Given the description of an element on the screen output the (x, y) to click on. 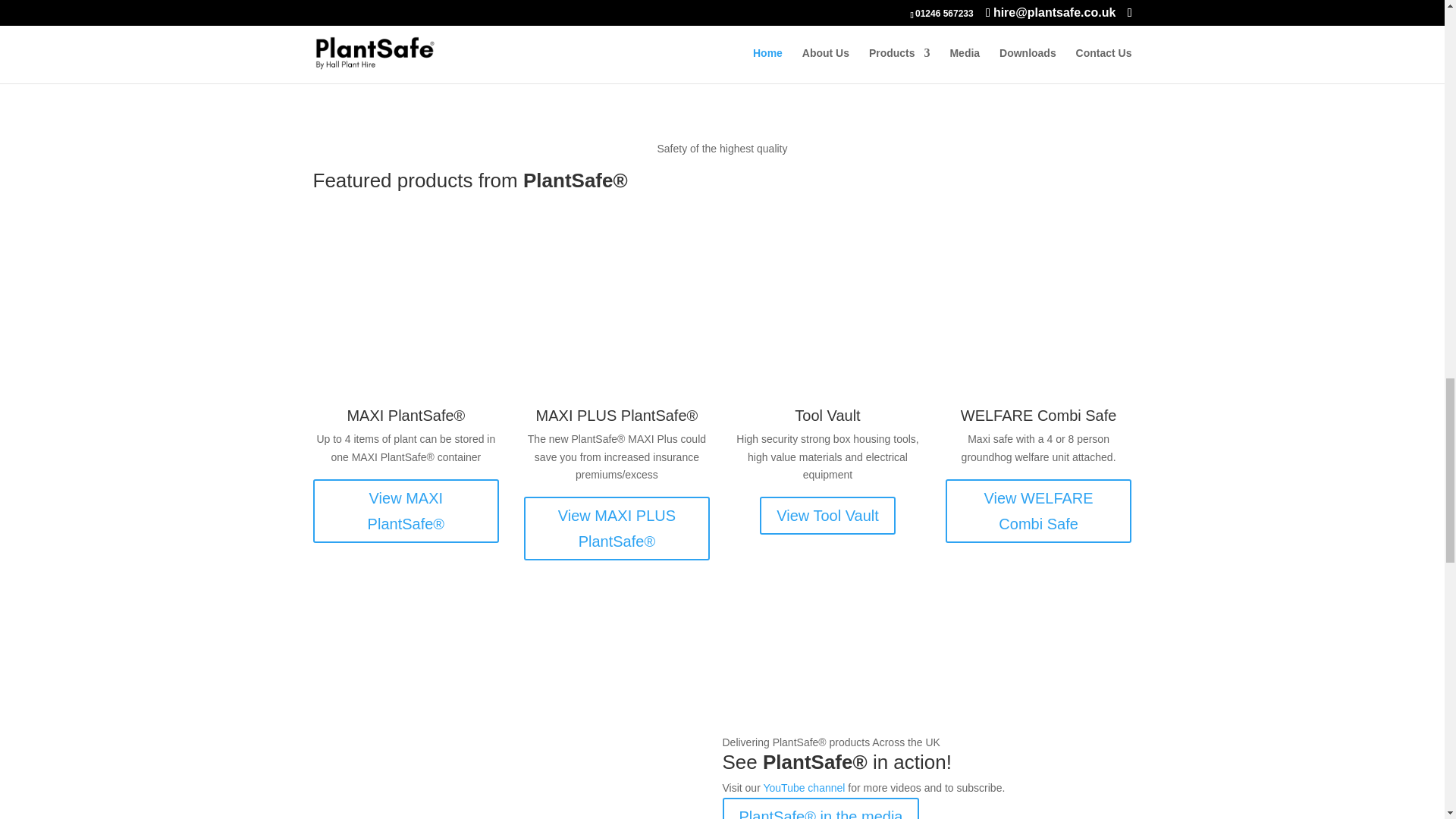
PlantSafe (517, 776)
YouTube channel (803, 787)
View WELFARE Combi Safe (1038, 510)
View Tool Vault (827, 515)
